Given the description of an element on the screen output the (x, y) to click on. 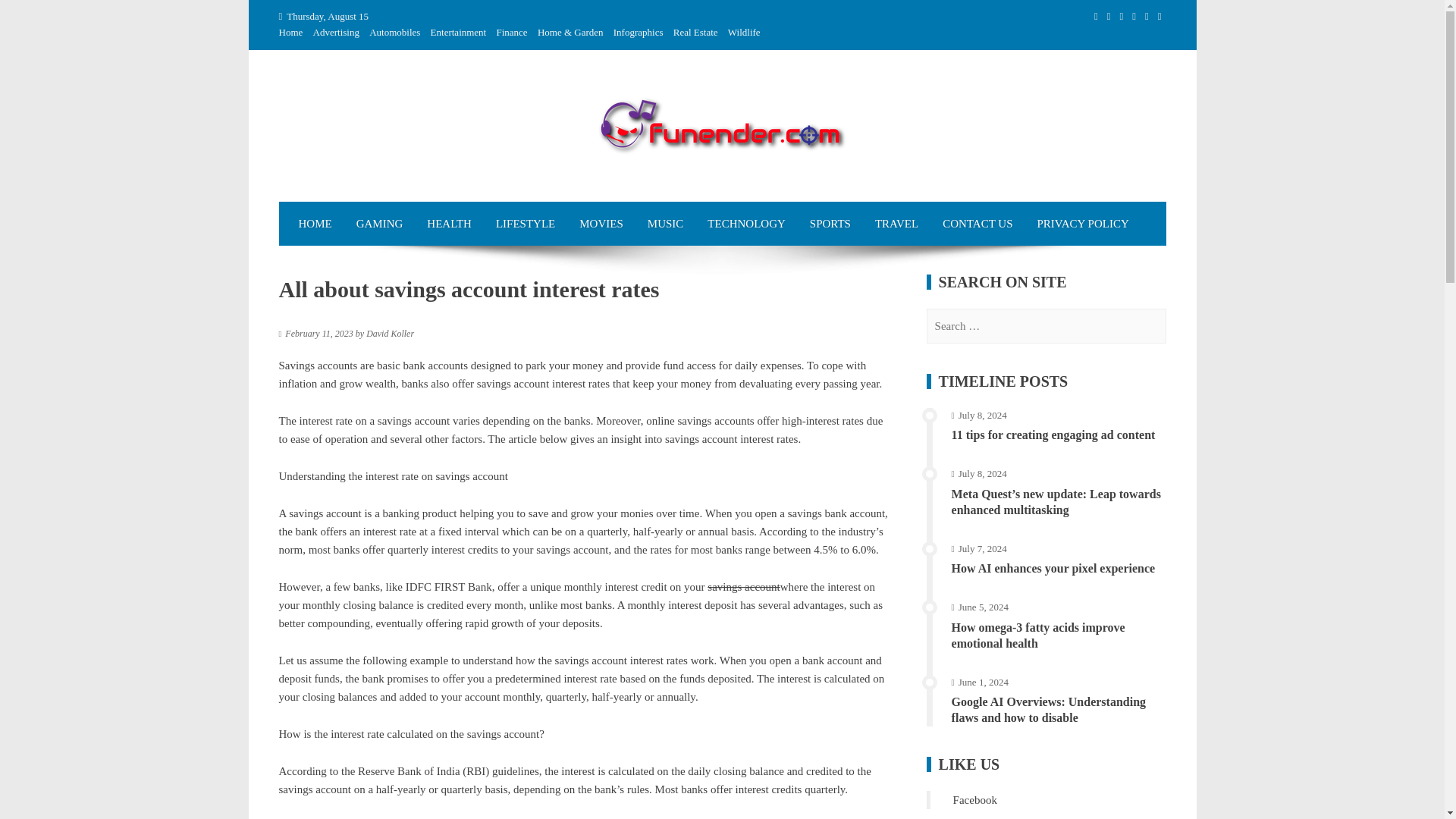
Advertising (336, 31)
GAMING (378, 223)
HEALTH (448, 223)
Infographics (637, 31)
Real Estate (694, 31)
CONTACT US (977, 223)
TECHNOLOGY (746, 223)
Home (290, 31)
savings account (742, 586)
SPORTS (830, 223)
